Given the description of an element on the screen output the (x, y) to click on. 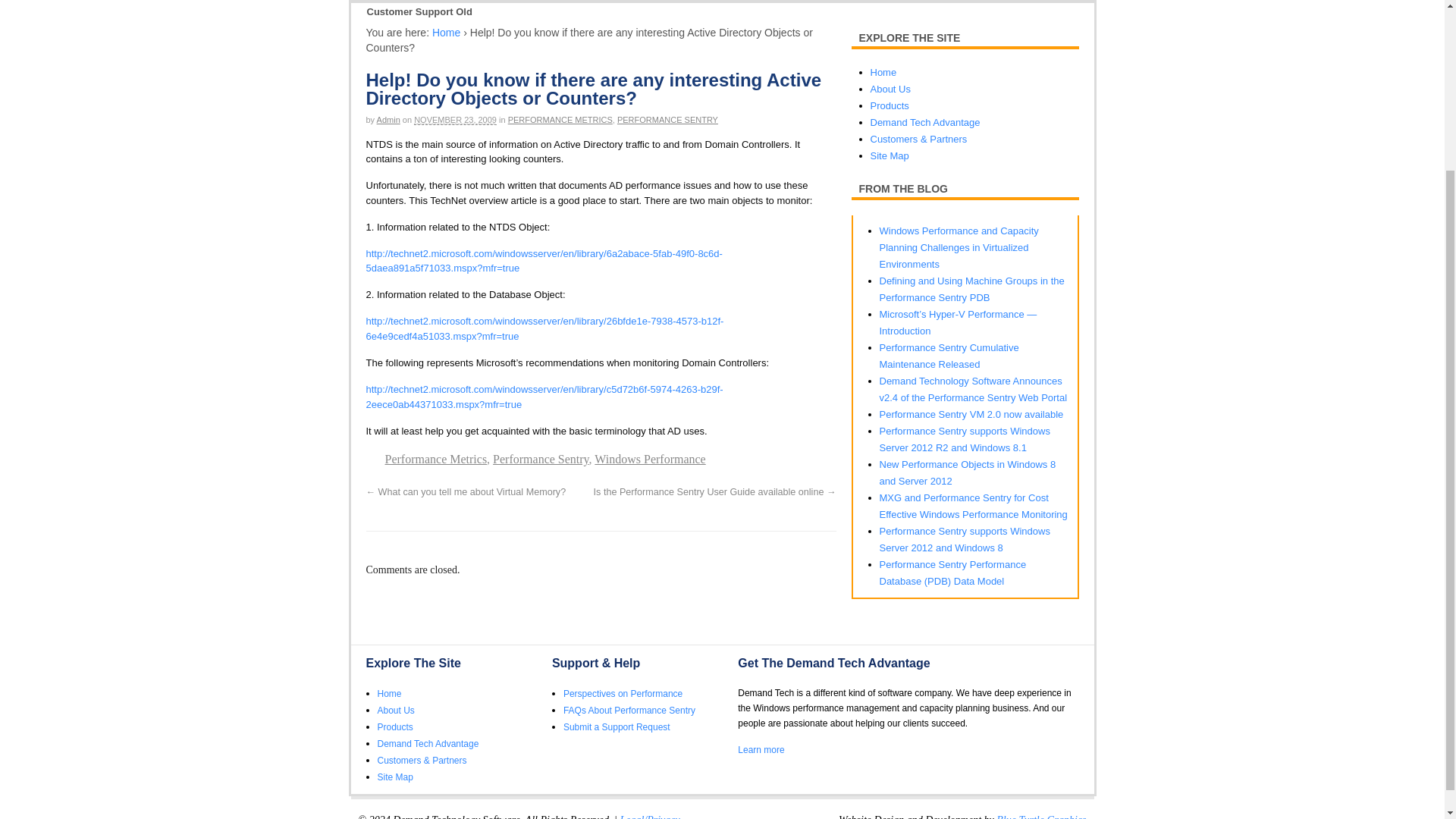
Performance Metrics (436, 459)
Admin (388, 119)
Home (446, 32)
PERFORMANCE METRICS (560, 119)
Customer Support Old (419, 12)
PERFORMANCE SENTRY (667, 119)
